Given the description of an element on the screen output the (x, y) to click on. 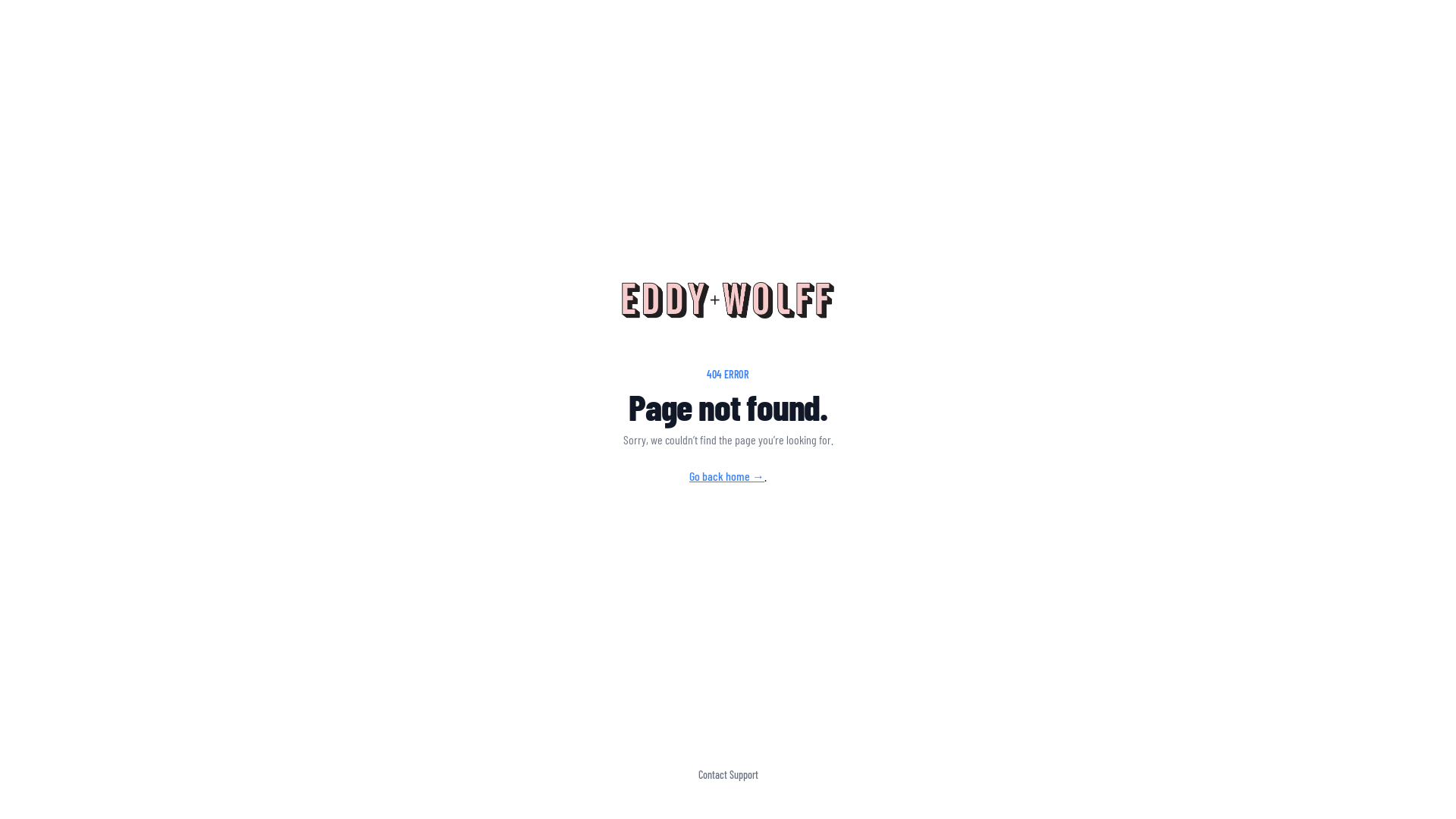
Eddy + Wolff Element type: text (727, 300)
Contact Support Element type: text (727, 774)
